Given the description of an element on the screen output the (x, y) to click on. 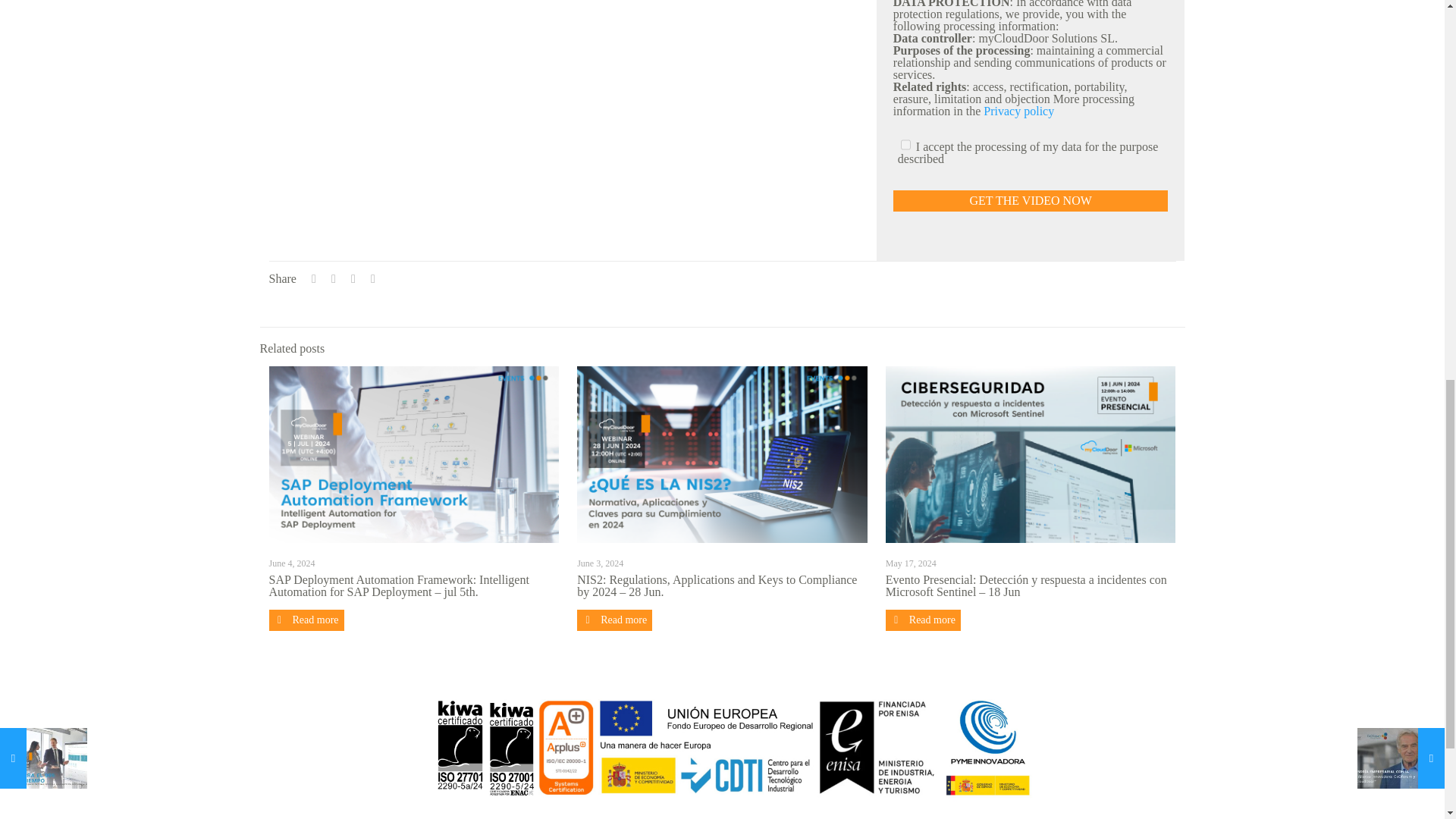
GET THE VIDEO NOW (1031, 200)
GET THE VIDEO NOW (1031, 200)
Privacy policy (1019, 110)
